Given the description of an element on the screen output the (x, y) to click on. 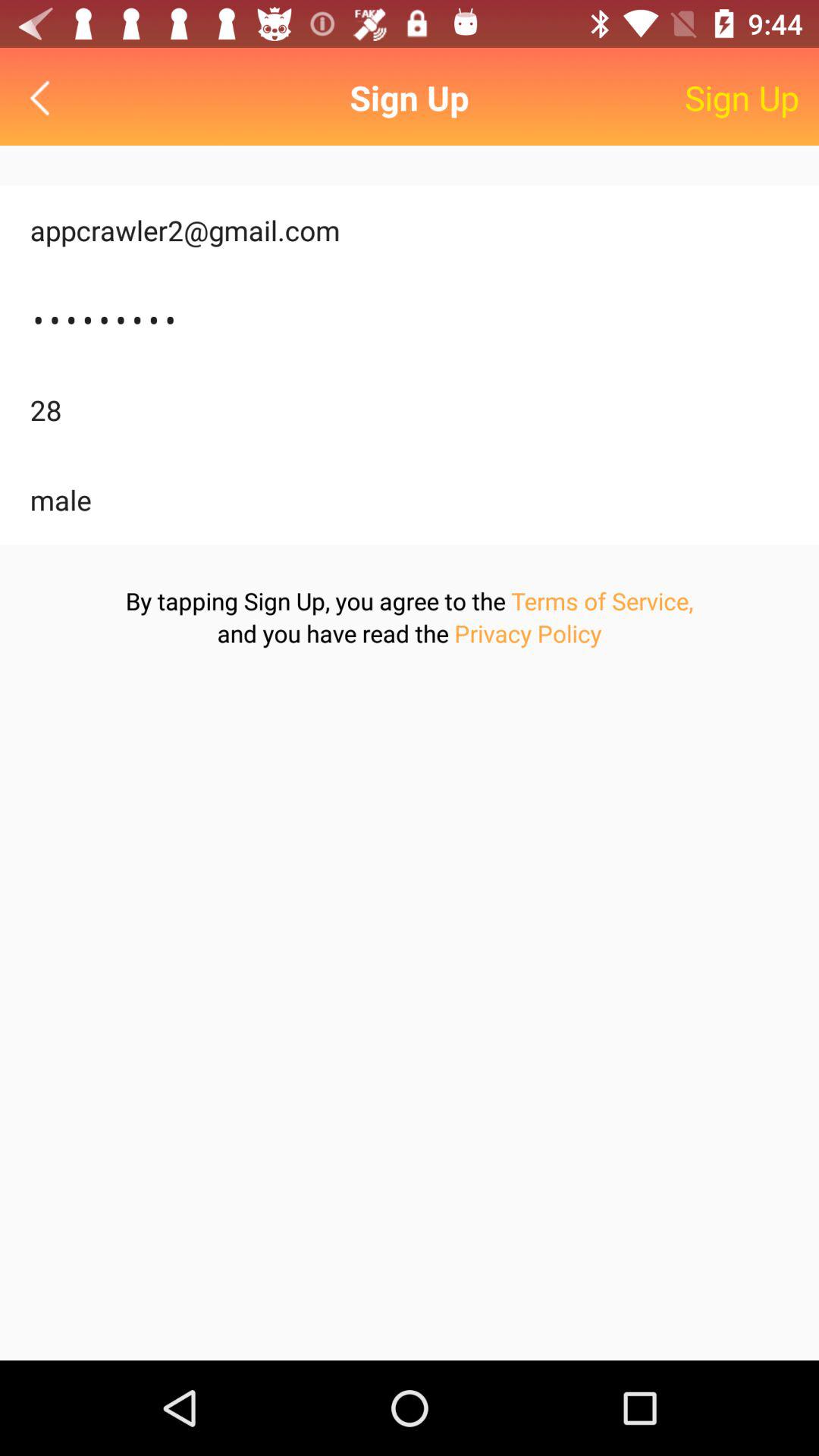
press the icon below male icon (602, 600)
